Given the description of an element on the screen output the (x, y) to click on. 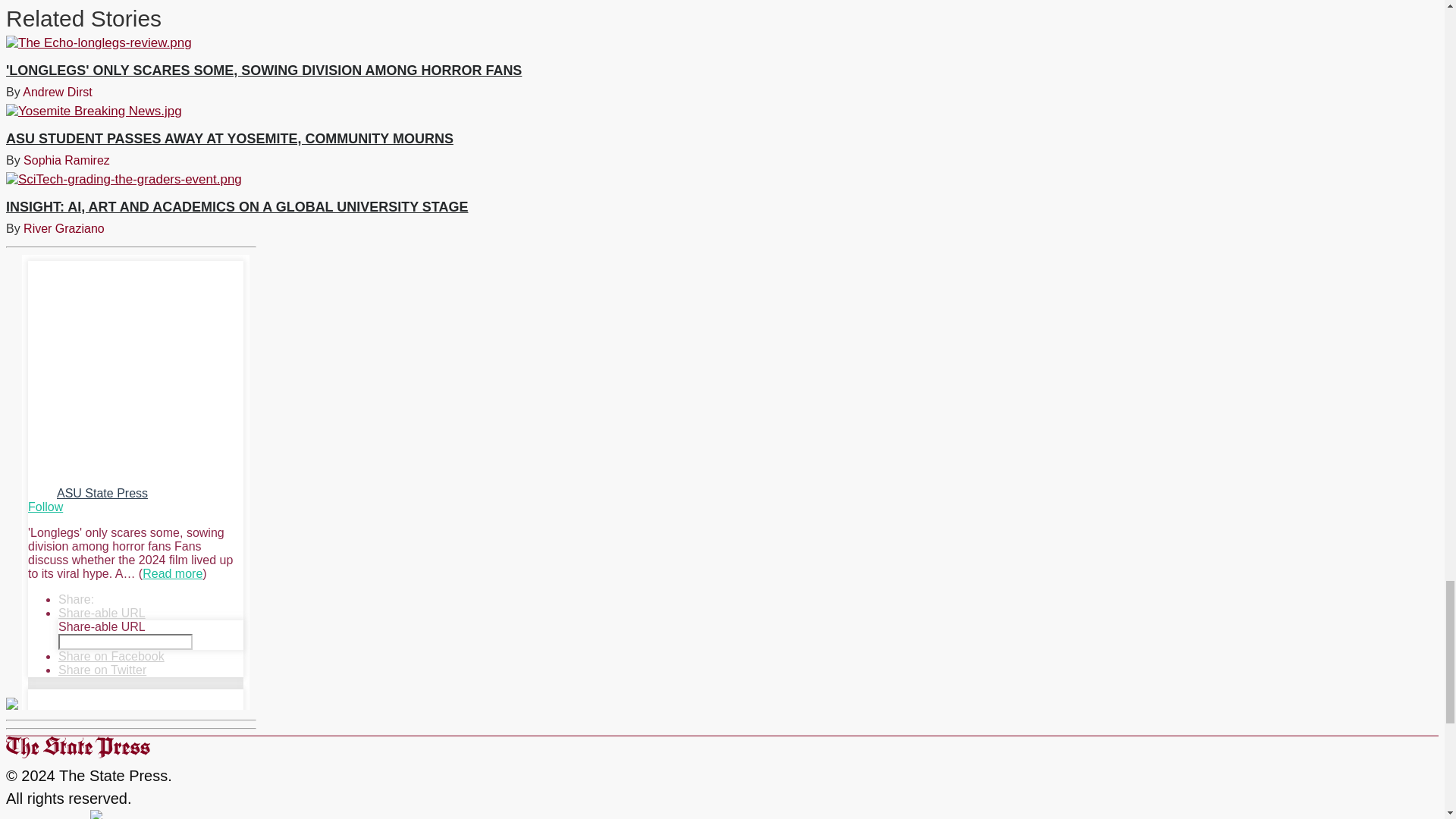
ASU student passes away at Yosemite, community mourns (228, 138)
Insight: AI, art and academics on a global university stage (536, 179)
Insight: AI, art and academics on a global university stage (236, 206)
Andrew Dirst (58, 91)
ASU student passes away at Yosemite, community mourns (536, 111)
